Given the description of an element on the screen output the (x, y) to click on. 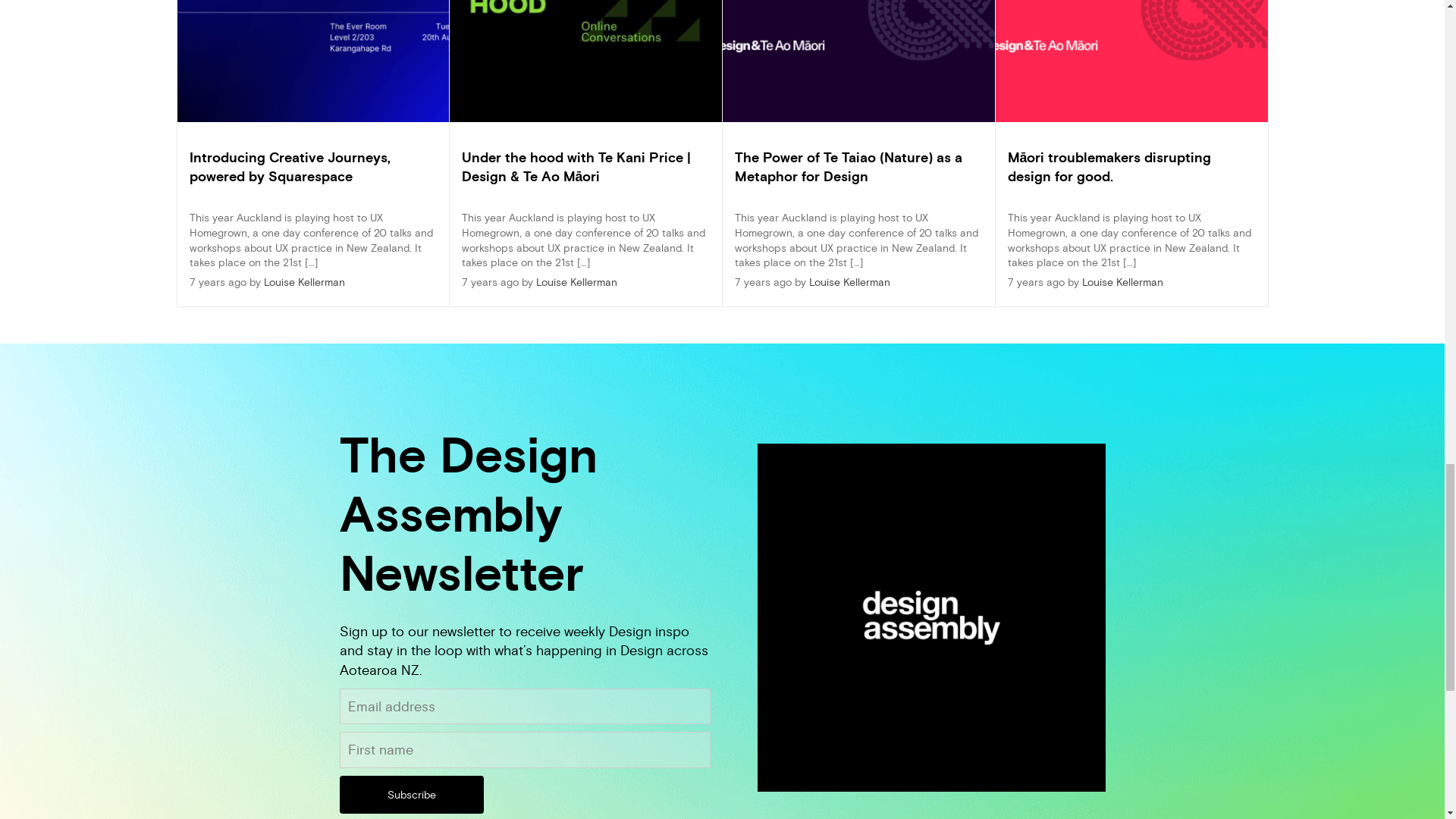
Subscribe (411, 794)
Posts by Louise Kellerman (304, 282)
Introducing Creative Journeys, powered by Squarespace (289, 166)
